Given the description of an element on the screen output the (x, y) to click on. 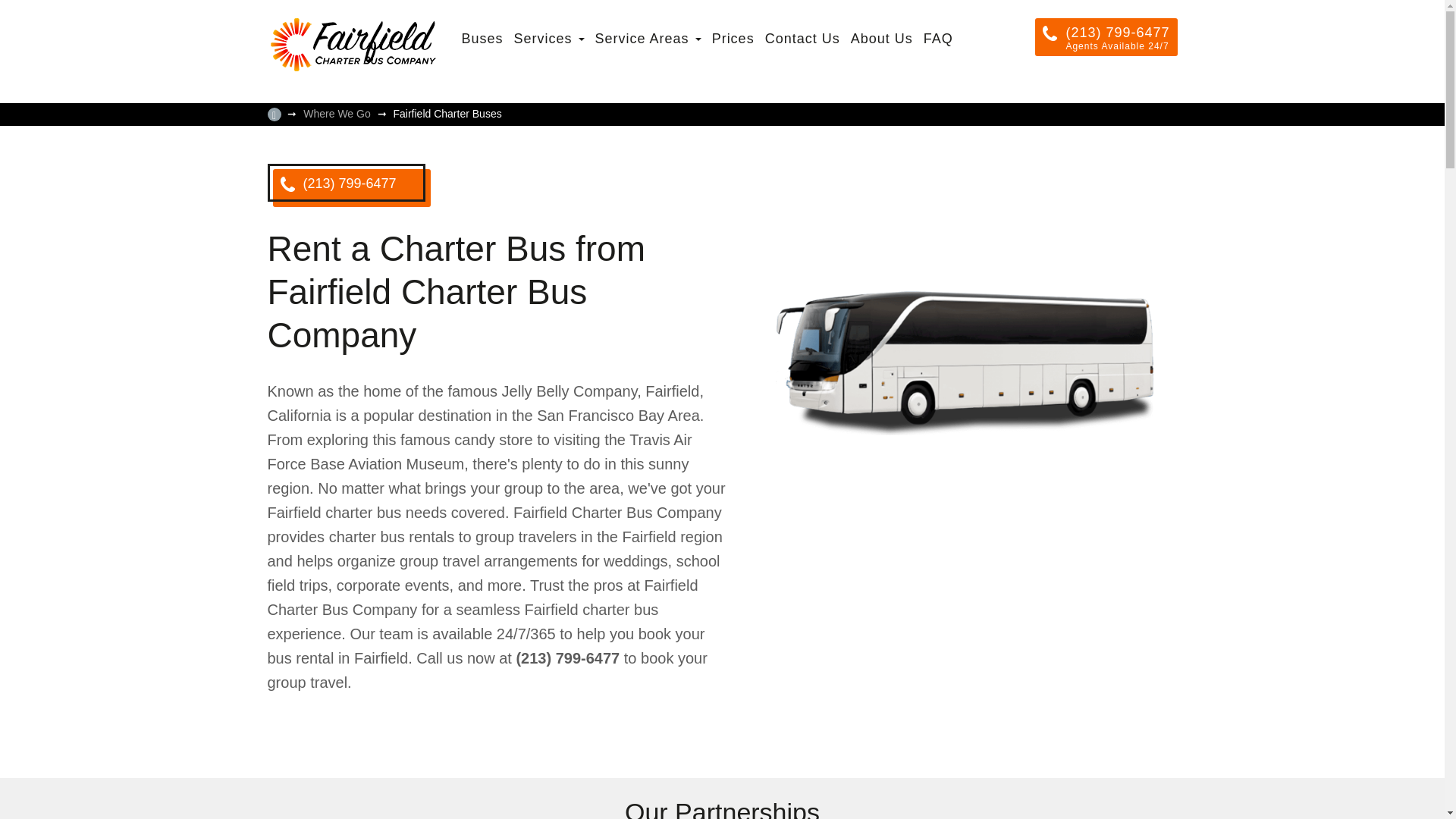
Service Areas (648, 38)
Buses (481, 38)
Services (549, 38)
